Given the description of an element on the screen output the (x, y) to click on. 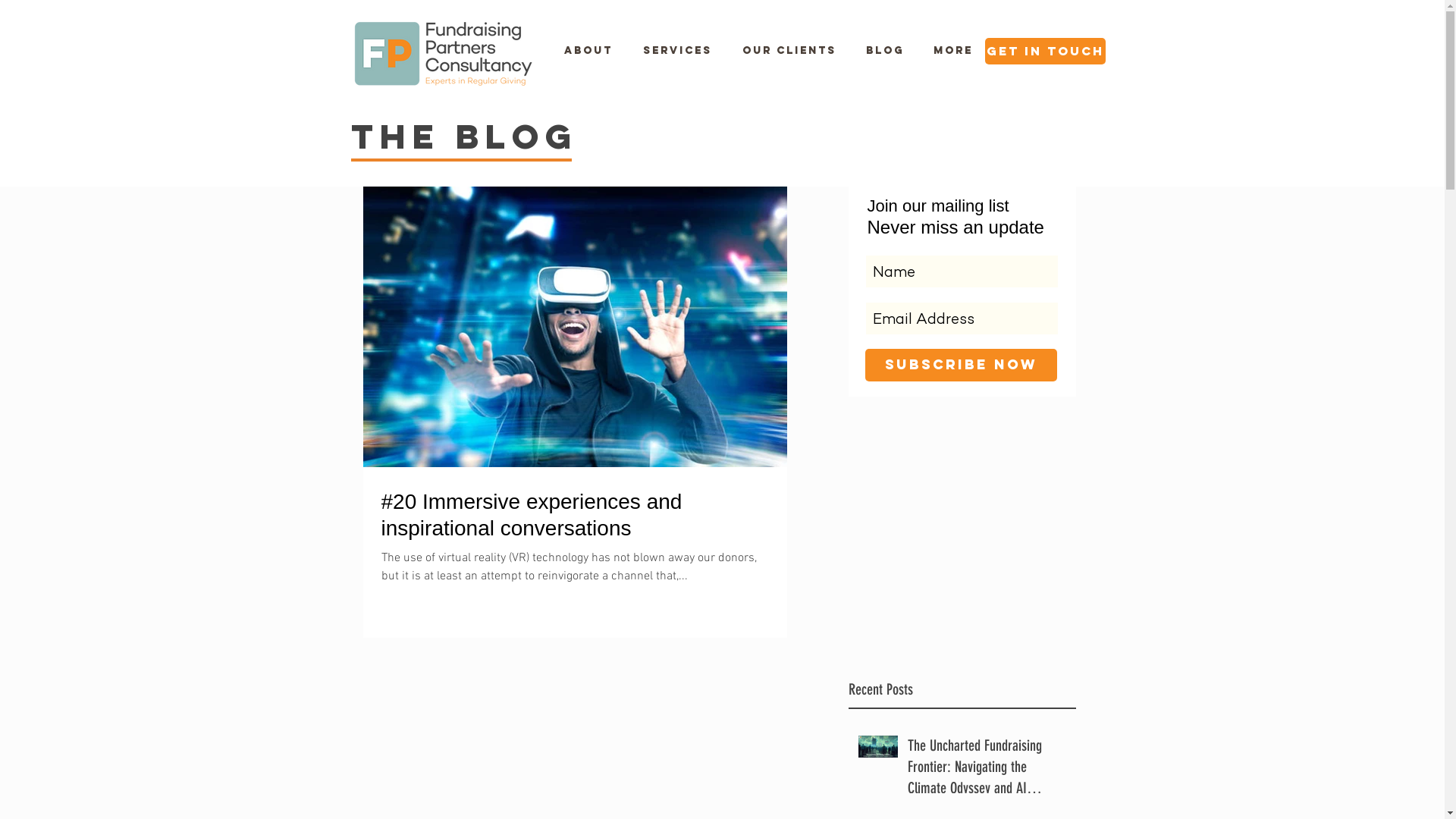
About Element type: text (580, 50)
GET IN TOUCH Element type: text (1044, 50)
Subscribe Now Element type: text (960, 364)
Our Clients Element type: text (780, 50)
Blog Element type: text (876, 50)
#20 Immersive experiences and inspirational conversations Element type: text (574, 514)
Services Element type: text (669, 50)
